Given the description of an element on the screen output the (x, y) to click on. 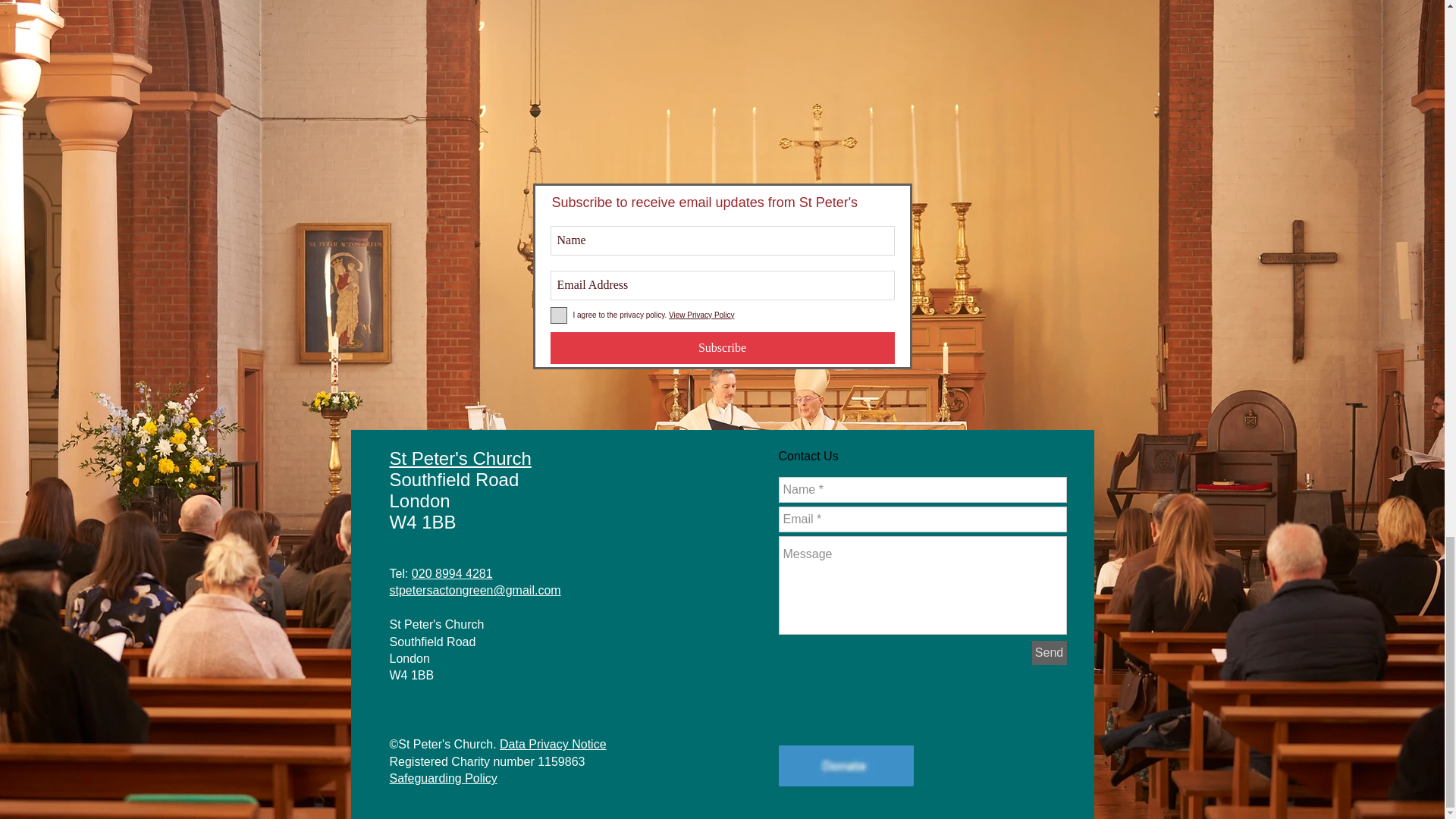
View Privacy Policy (701, 315)
Subscribe (722, 347)
